Given the description of an element on the screen output the (x, y) to click on. 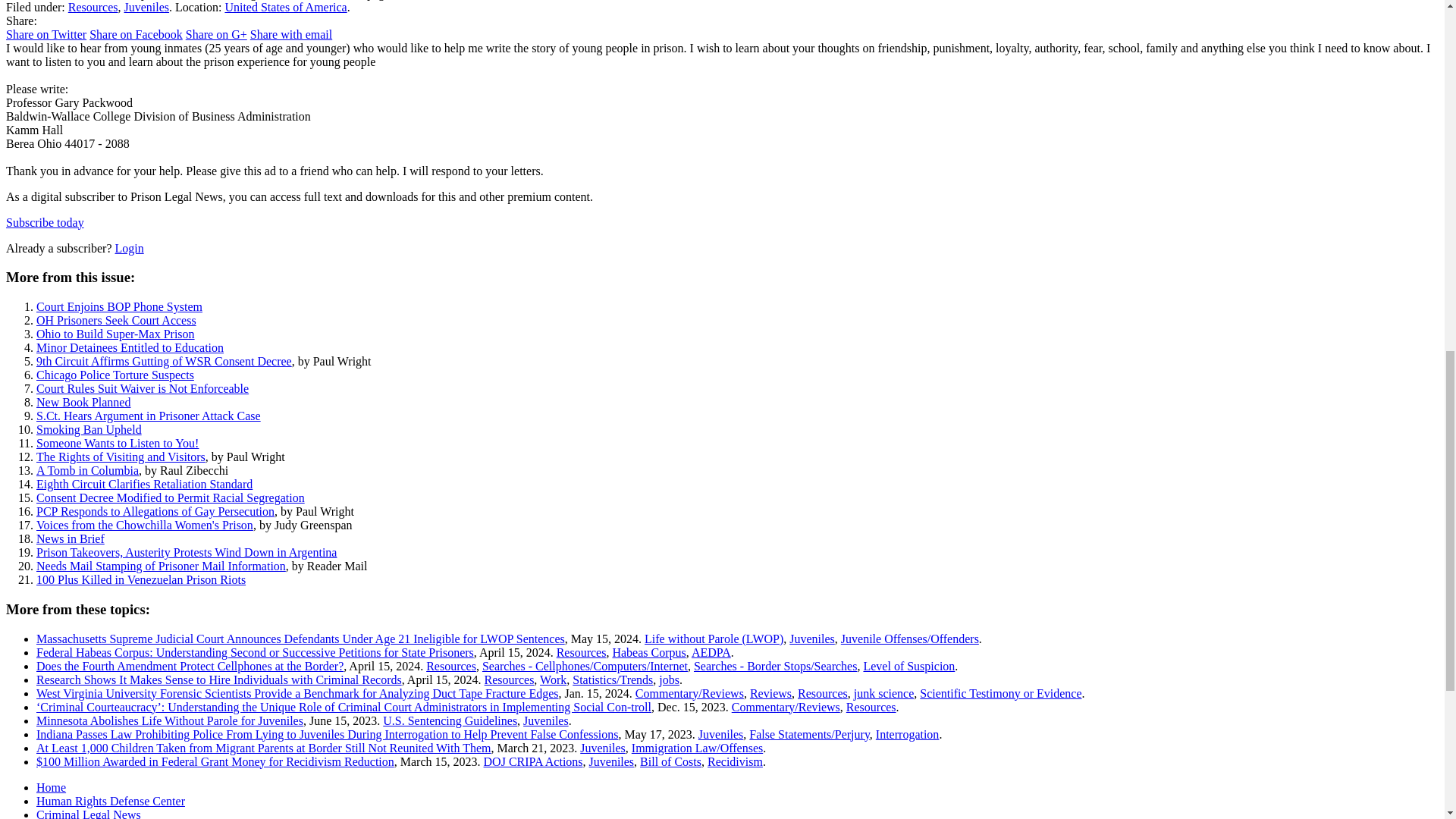
Share on Twitter (45, 33)
Share on Facebook (135, 33)
Resources (92, 6)
Share with email (290, 33)
